Given the description of an element on the screen output the (x, y) to click on. 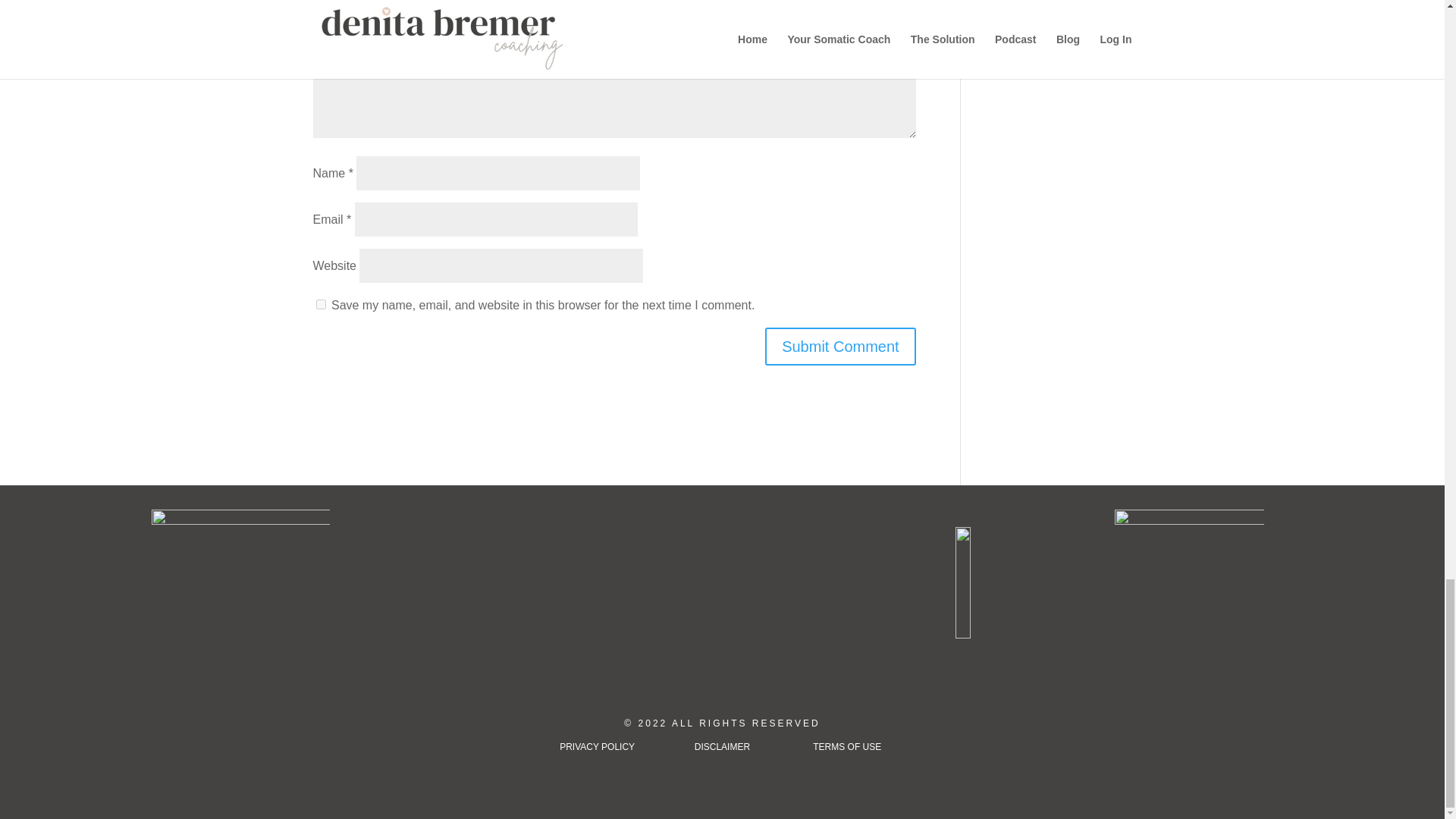
coach (240, 598)
Submit Comment (840, 346)
EHS Badge - Transparent Background (1189, 584)
Submit Comment (840, 346)
yes (319, 304)
